Given the description of an element on the screen output the (x, y) to click on. 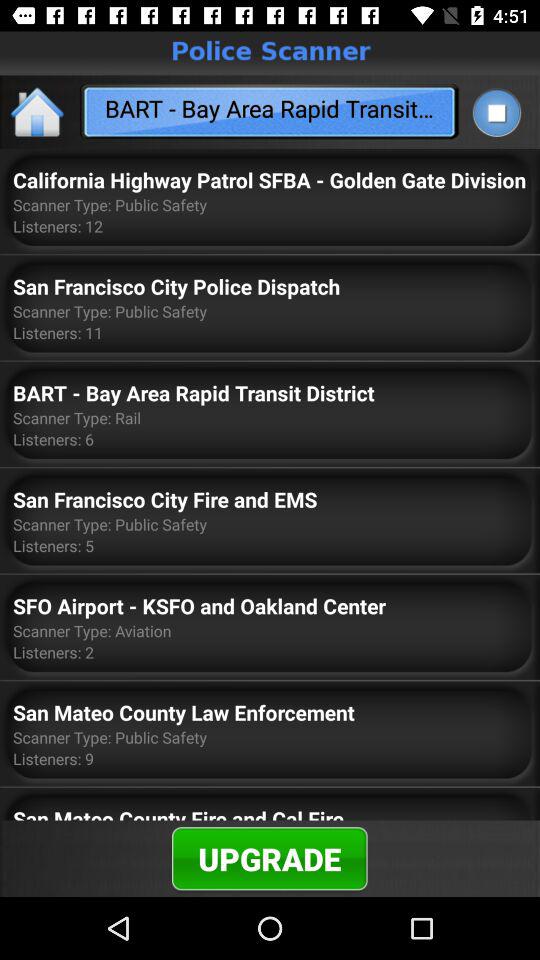
open app next to the bart bay area (38, 111)
